Given the description of an element on the screen output the (x, y) to click on. 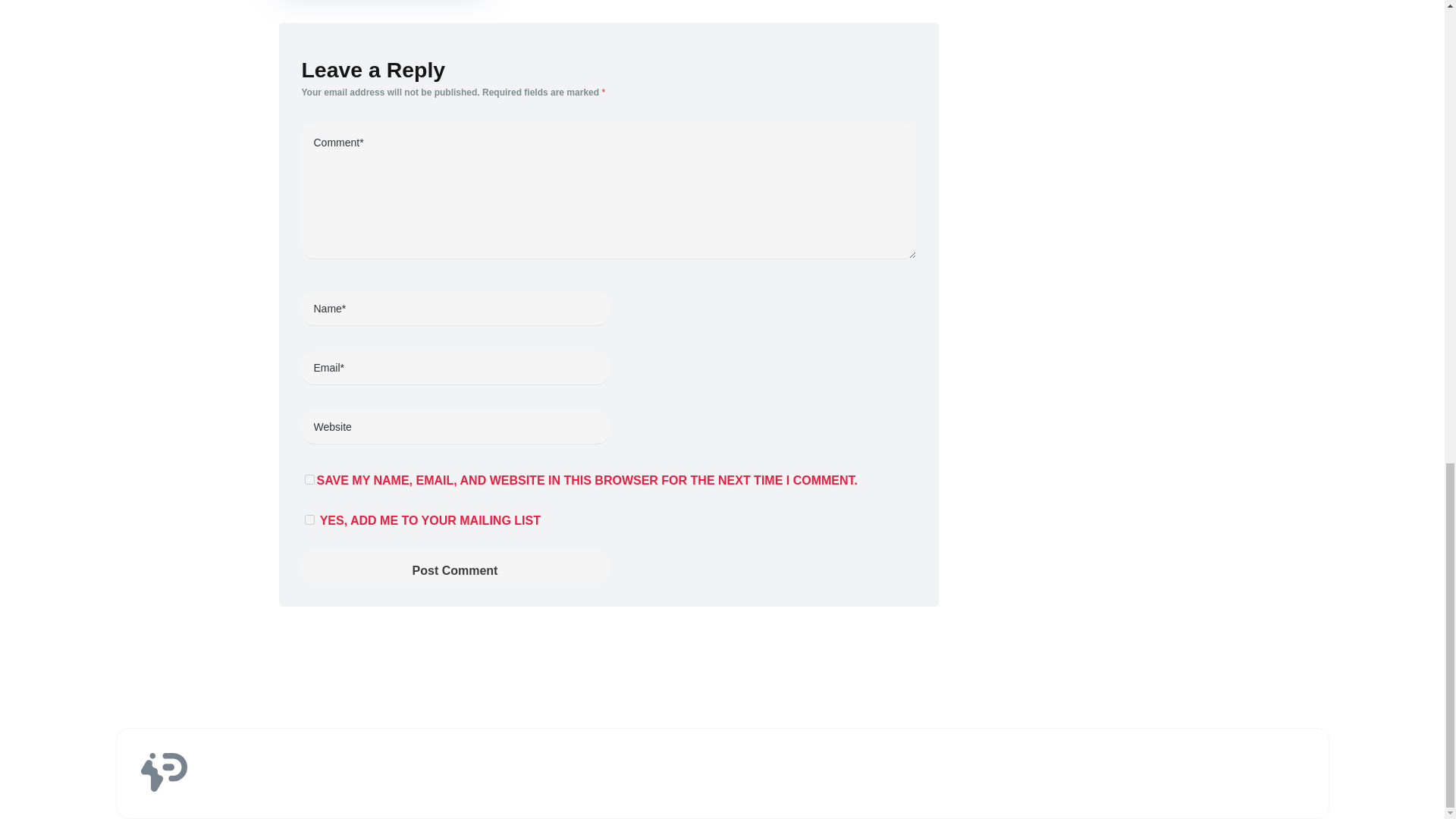
Post Comment (454, 566)
Post Comment (454, 566)
yes (309, 479)
1 (309, 519)
